Given the description of an element on the screen output the (x, y) to click on. 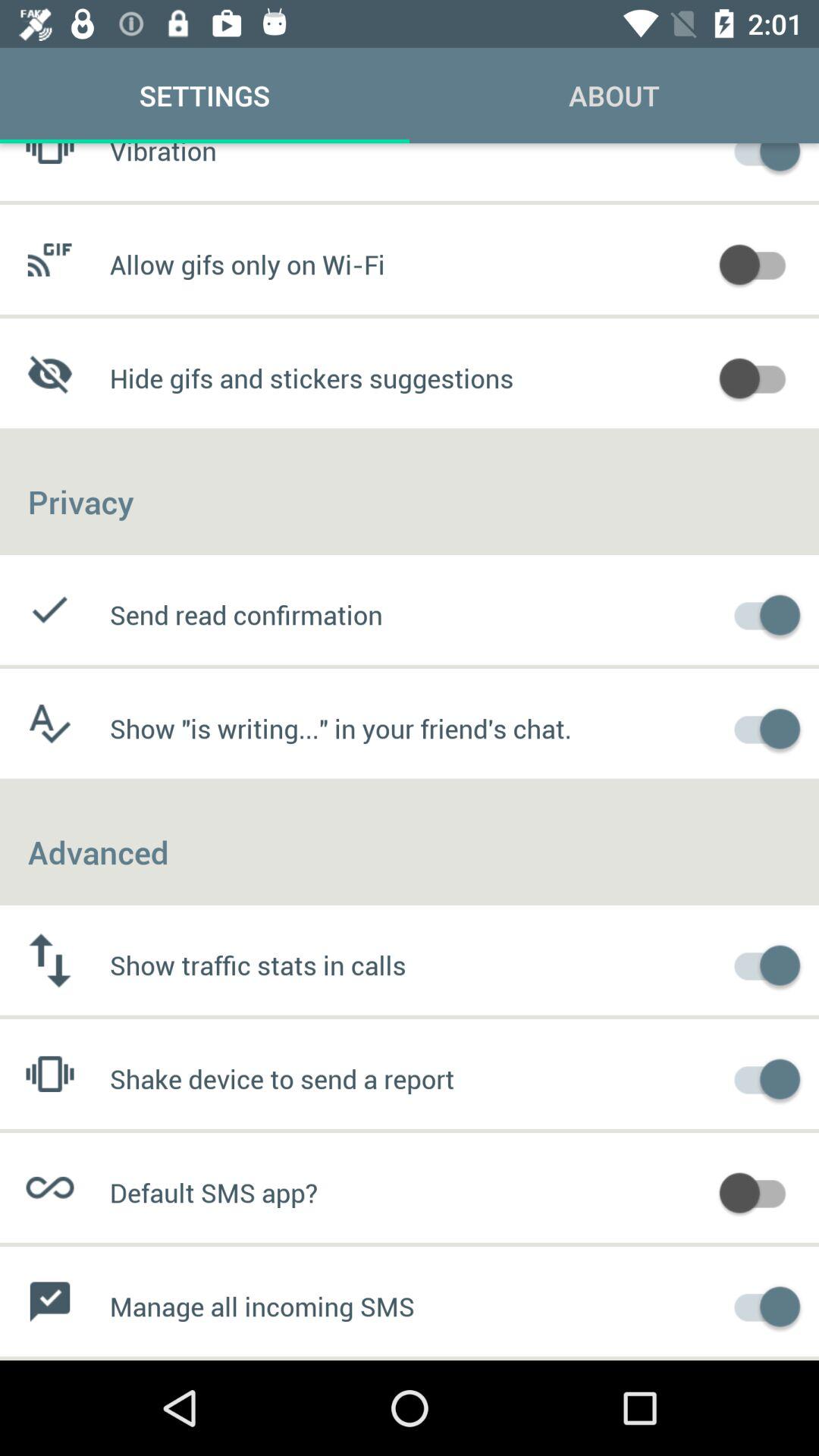
toggle shake device to send report (759, 1077)
